Given the description of an element on the screen output the (x, y) to click on. 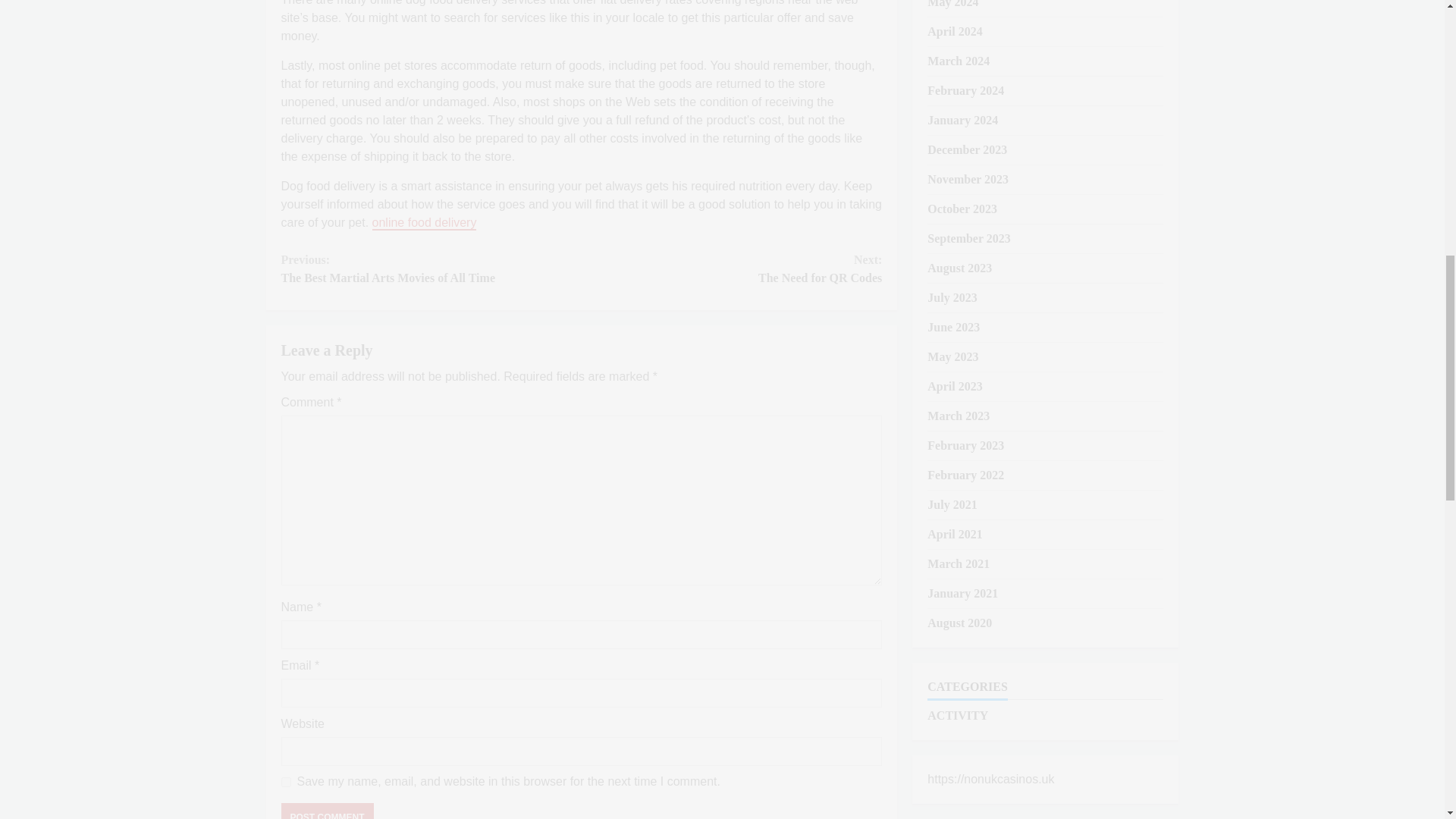
online food delivery (731, 268)
Post Comment (430, 268)
May 2024 (424, 223)
April 2024 (326, 811)
Post Comment (952, 4)
yes (954, 31)
